Given the description of an element on the screen output the (x, y) to click on. 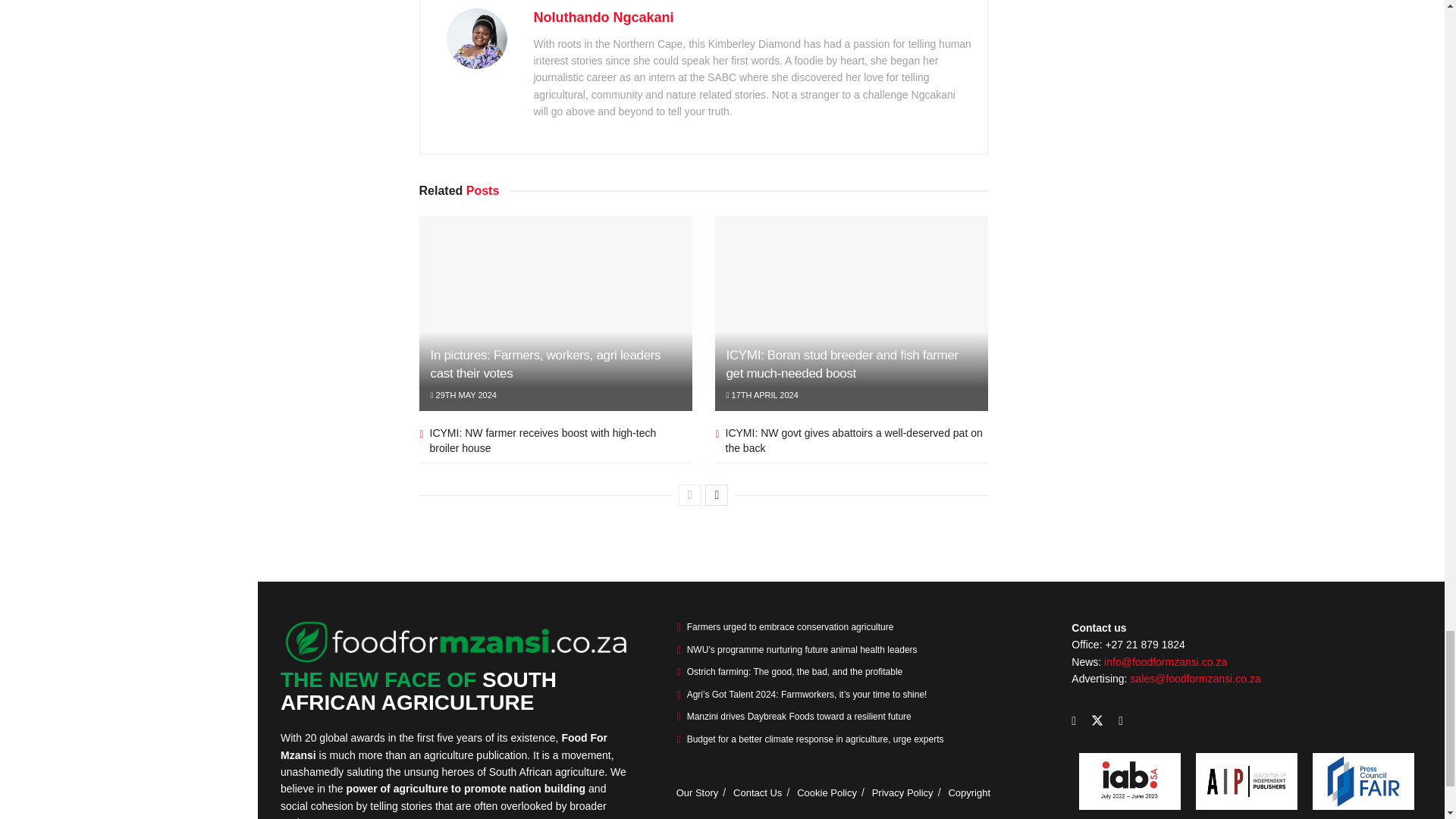
Previous (689, 495)
Next (716, 495)
